Given the description of an element on the screen output the (x, y) to click on. 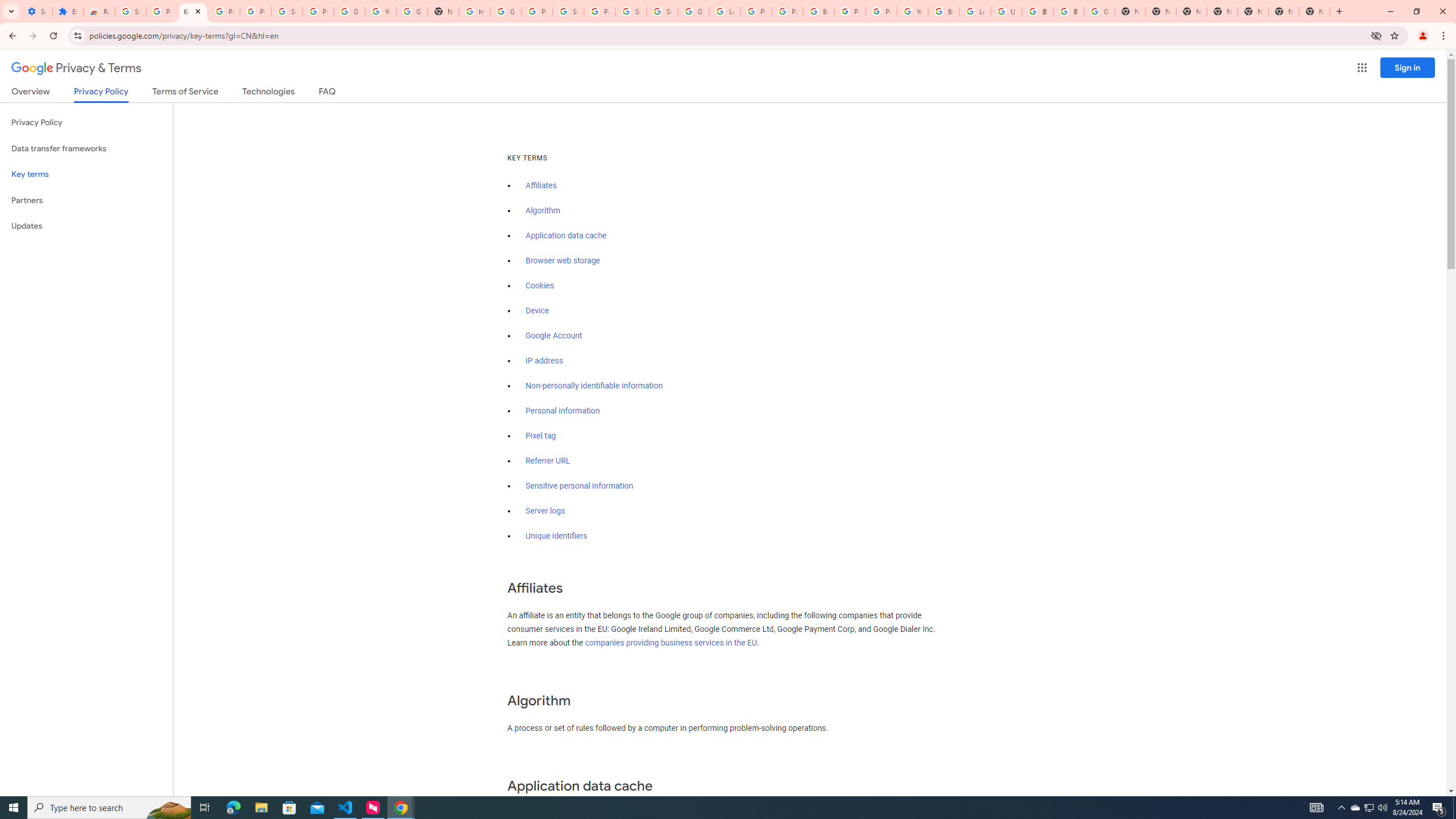
Partners (86, 199)
Server logs (544, 511)
IP address (544, 361)
Application data cache (566, 235)
Google Images (1098, 11)
